Given the description of an element on the screen output the (x, y) to click on. 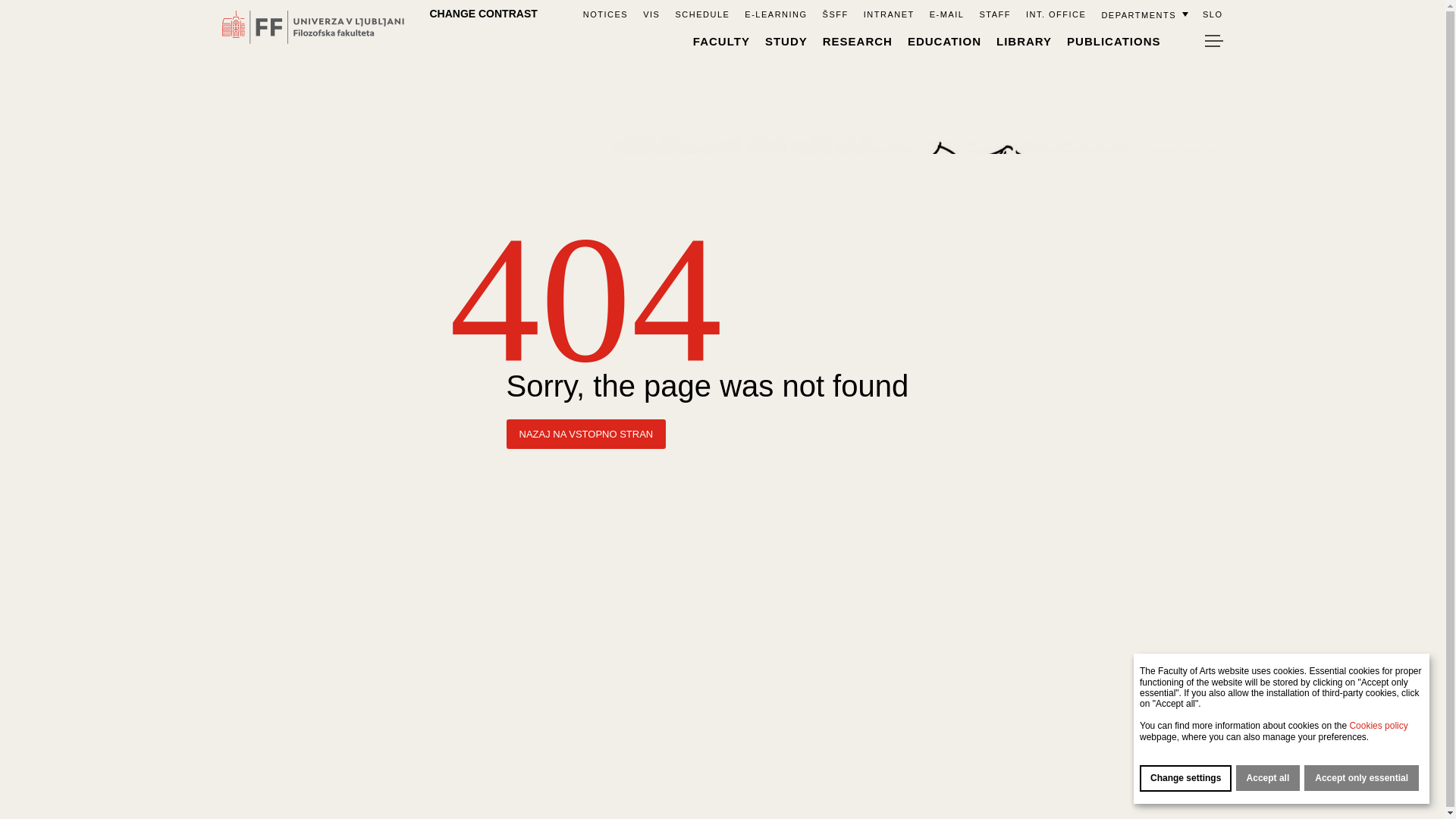
SCHEDULE (702, 13)
International Office (1056, 13)
SLO (1212, 13)
DEPARTMENTS (1144, 14)
E-LEARNING (775, 13)
Home (558, 13)
VIS (651, 13)
NOTICES (605, 13)
STAFF (994, 13)
INT. OFFICE (1056, 13)
Intranet (888, 13)
Zaposleni (994, 13)
INTRANET (888, 13)
VIS (651, 13)
E-MAIL (946, 13)
